Given the description of an element on the screen output the (x, y) to click on. 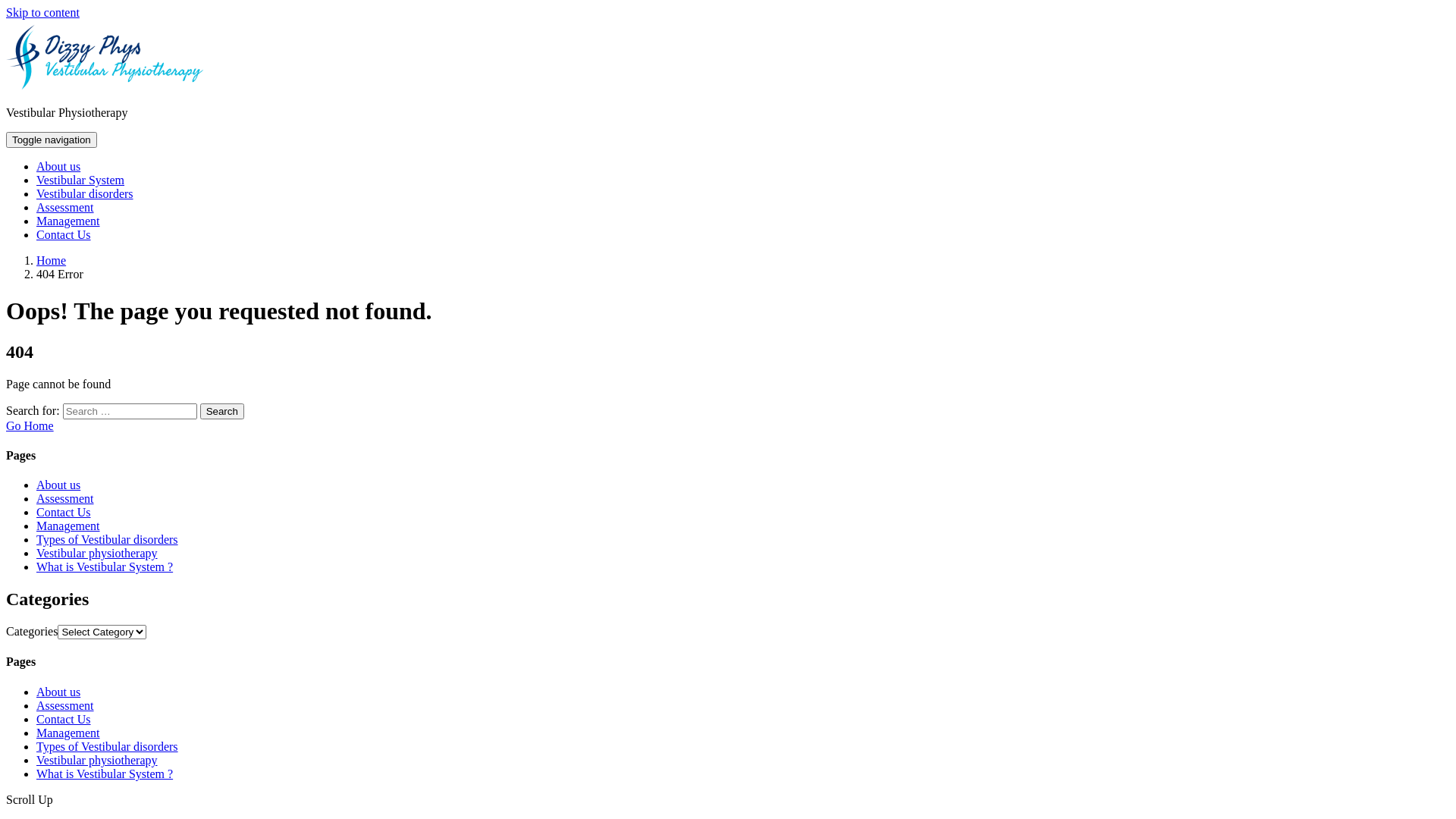
Vestibular System Element type: text (80, 179)
Management Element type: text (68, 220)
Contact Us Element type: text (63, 511)
Vestibular physiotherapy Element type: text (96, 759)
Go Home Element type: text (29, 425)
About us Element type: text (58, 484)
Management Element type: text (68, 525)
What is Vestibular System ? Element type: text (104, 566)
Toggle navigation Element type: text (51, 139)
Skip to content Element type: text (42, 12)
Assessment Element type: text (65, 705)
Assessment Element type: text (65, 206)
Assessment Element type: text (65, 498)
Contact Us Element type: text (63, 718)
Management Element type: text (68, 732)
Home Element type: text (50, 260)
Types of Vestibular disorders Element type: text (107, 539)
Contact Us Element type: text (63, 234)
About us Element type: text (58, 166)
Search Element type: text (222, 411)
About us Element type: text (58, 691)
Vestibular disorders Element type: text (84, 193)
What is Vestibular System ? Element type: text (104, 773)
Types of Vestibular disorders Element type: text (107, 746)
Vestibular physiotherapy Element type: text (96, 552)
